Given the description of an element on the screen output the (x, y) to click on. 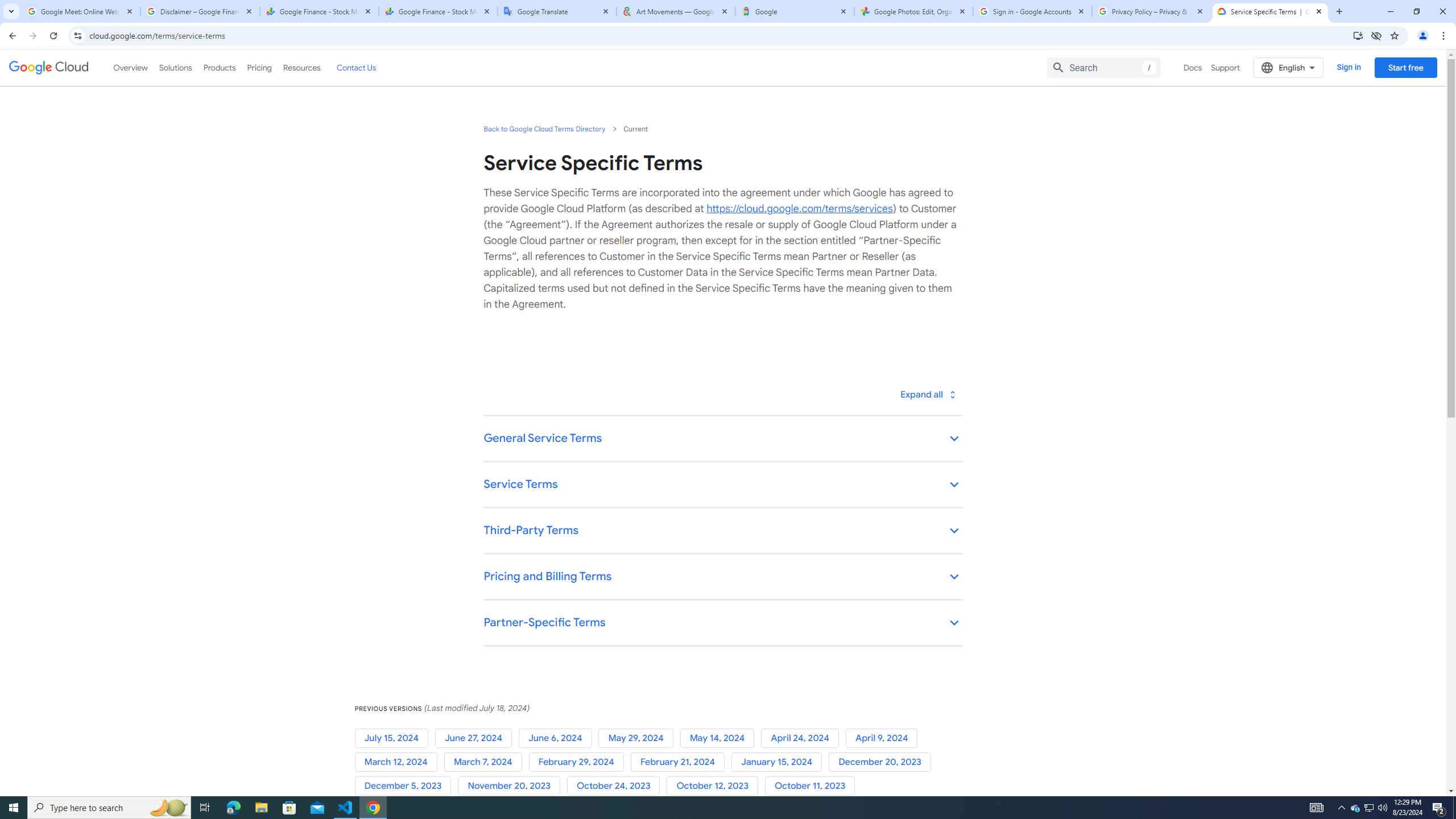
Google Cloud (48, 67)
Solutions (175, 67)
https://cloud.google.com/terms/services (799, 208)
Support (1225, 67)
October 12, 2023 (715, 786)
February 21, 2024 (680, 761)
March 12, 2024 (398, 761)
